Given the description of an element on the screen output the (x, y) to click on. 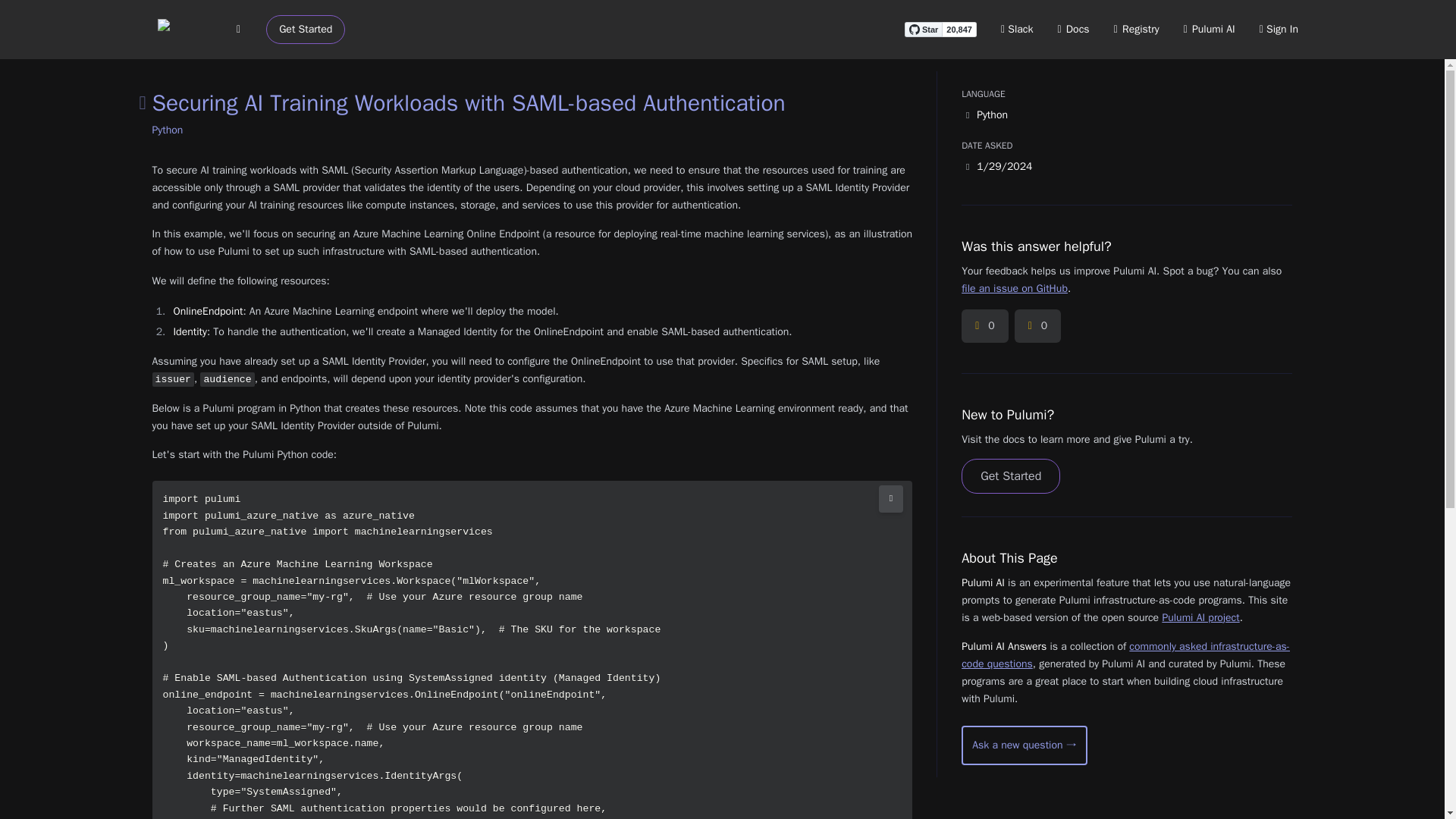
Docs (1073, 29)
Slack (1017, 29)
Get Started (1009, 475)
0 (1037, 326)
Registry (1135, 29)
Upvote this answer (984, 326)
 Star (923, 29)
Pulumi AI (1208, 29)
Downvote this answer (1037, 326)
Sign In (1278, 29)
